Given the description of an element on the screen output the (x, y) to click on. 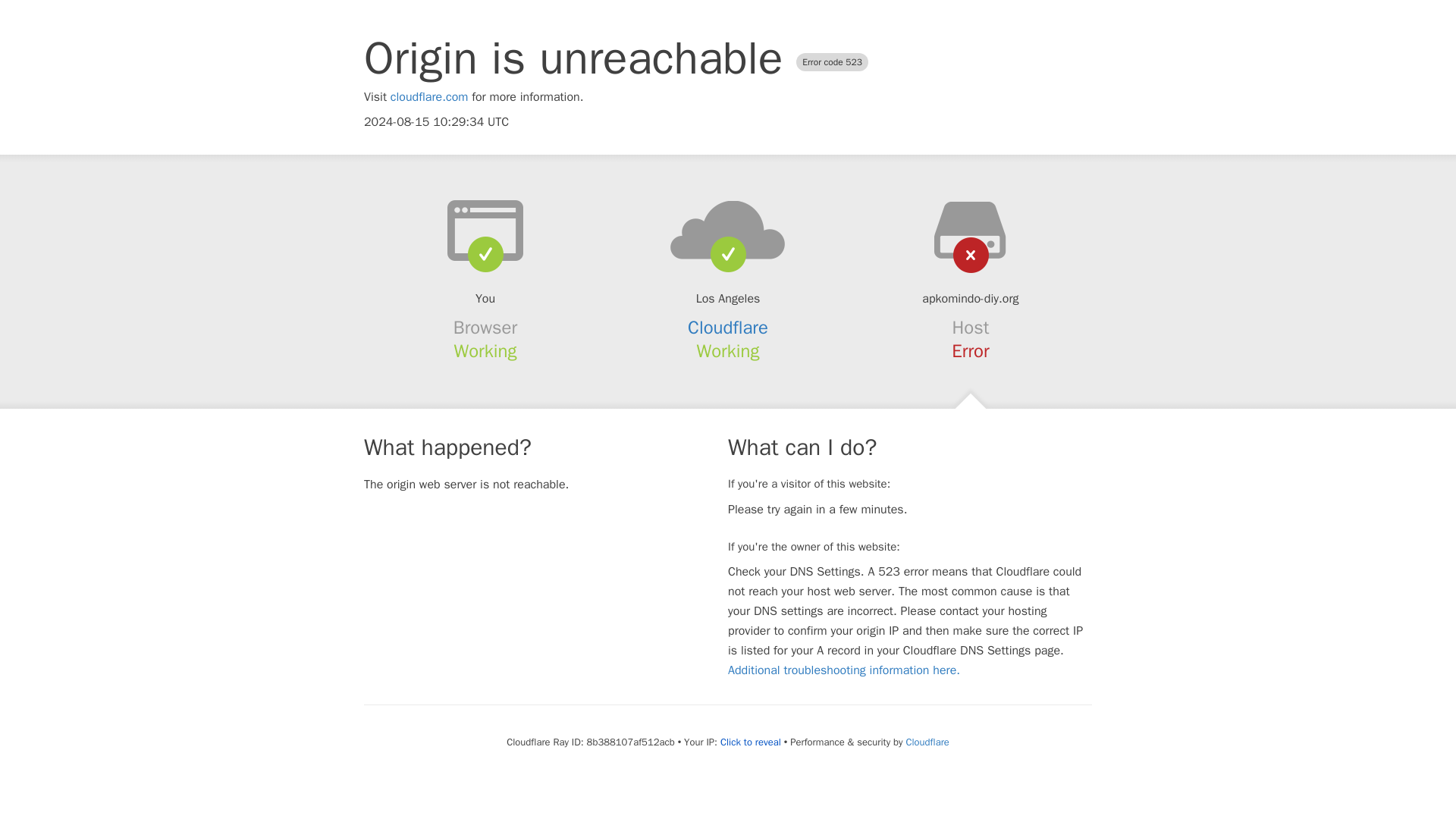
Cloudflare (727, 327)
Click to reveal (750, 742)
Cloudflare (927, 741)
cloudflare.com (429, 96)
Additional troubleshooting information here. (843, 670)
